Given the description of an element on the screen output the (x, y) to click on. 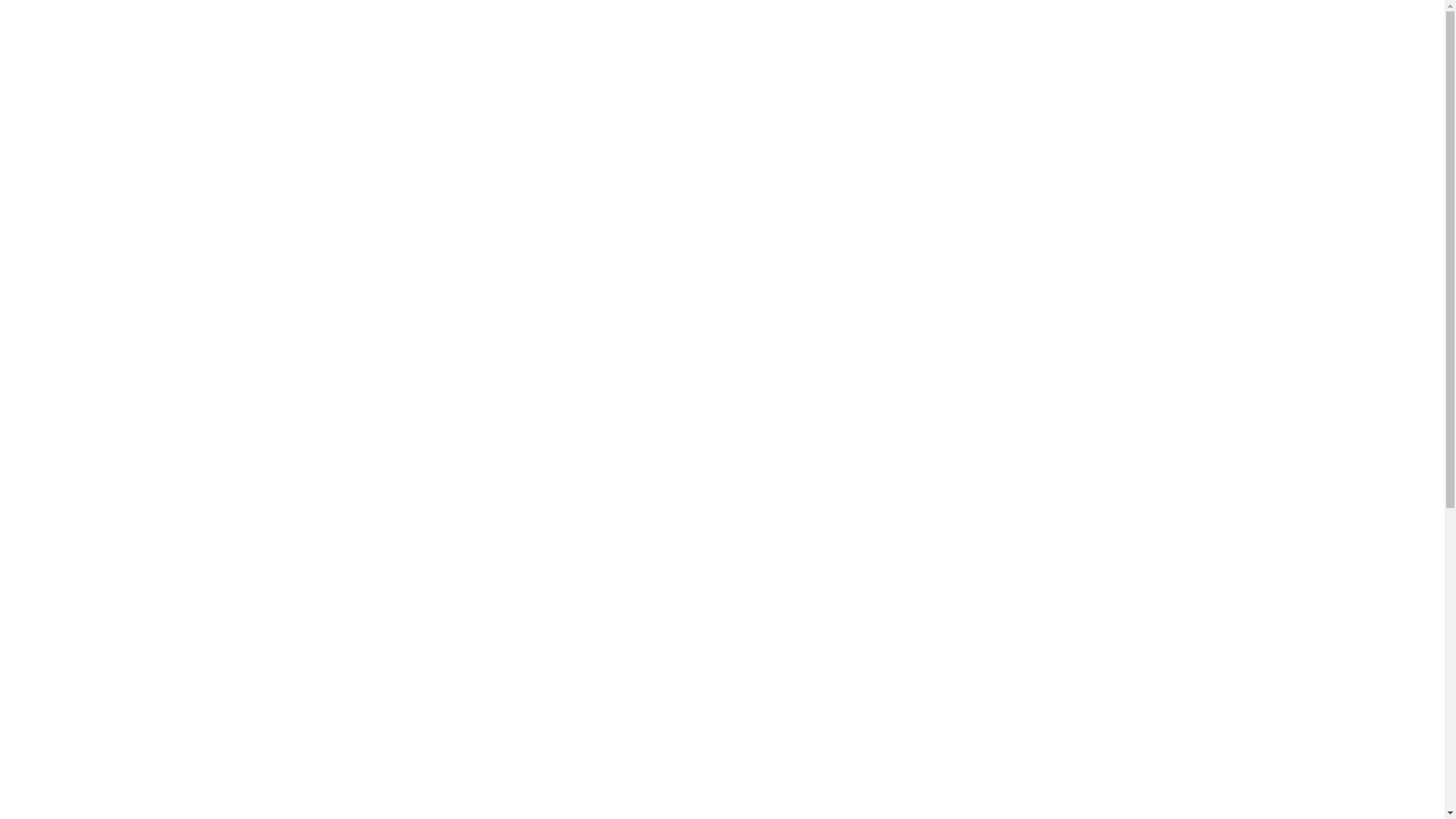
English Element type: text (1370, 47)
EV Element type: text (965, 47)
